Given the description of an element on the screen output the (x, y) to click on. 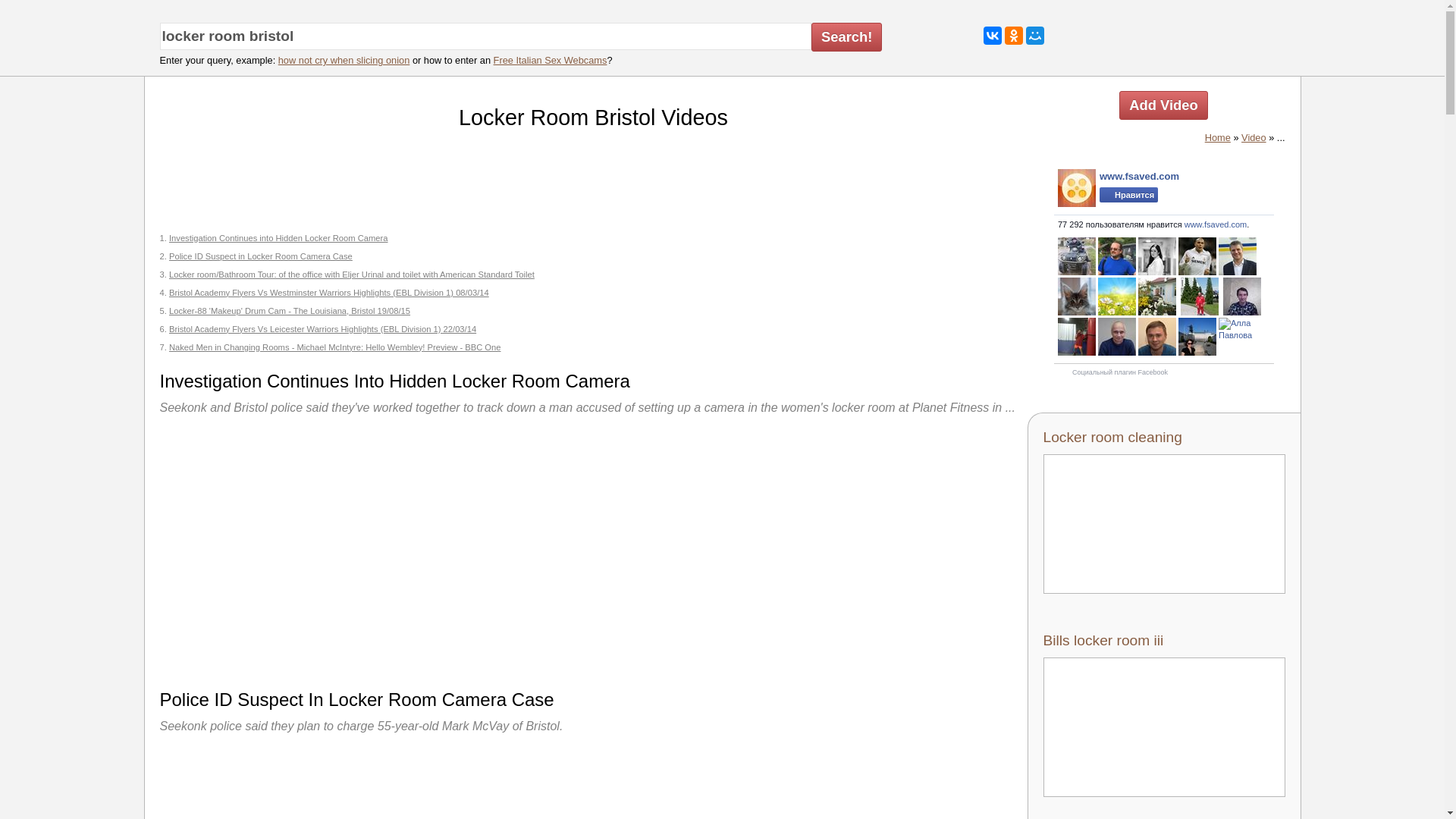
locker room bristol (484, 35)
Locker room cleaning (1164, 510)
Investigation Continues into Hidden Locker Room Camera (278, 237)
Home (1217, 137)
Free Italian Sex Webcams (550, 60)
how not cry when slicing onion (344, 60)
Search! (846, 36)
Video (1253, 137)
Add Video (1163, 104)
Police ID Suspect in Locker Room Camera Case (260, 256)
Bills locker room iii (1164, 713)
